Given the description of an element on the screen output the (x, y) to click on. 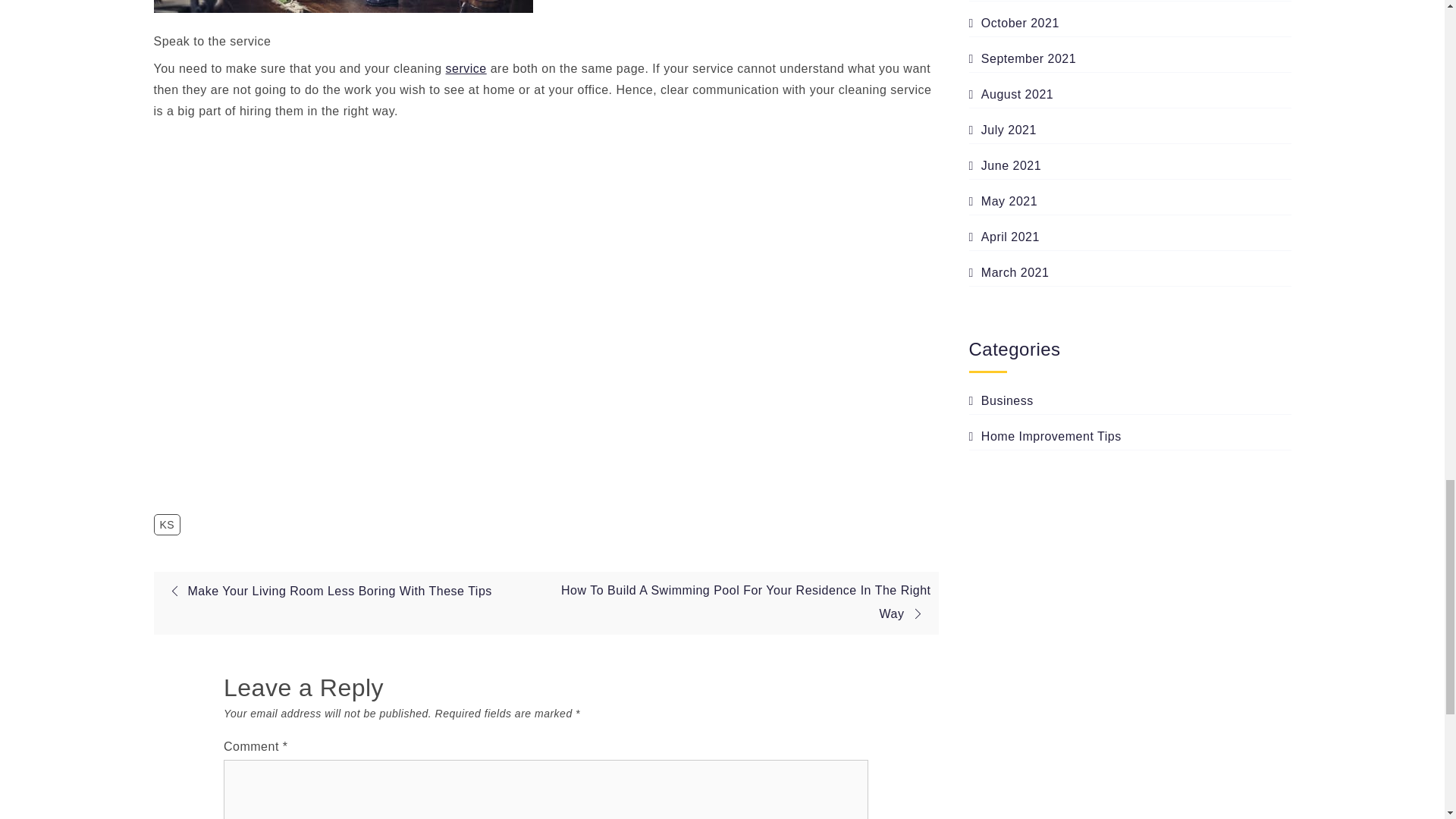
Make Your Living Room Less Boring With These Tips (326, 590)
service (465, 68)
KS (166, 524)
